Given the description of an element on the screen output the (x, y) to click on. 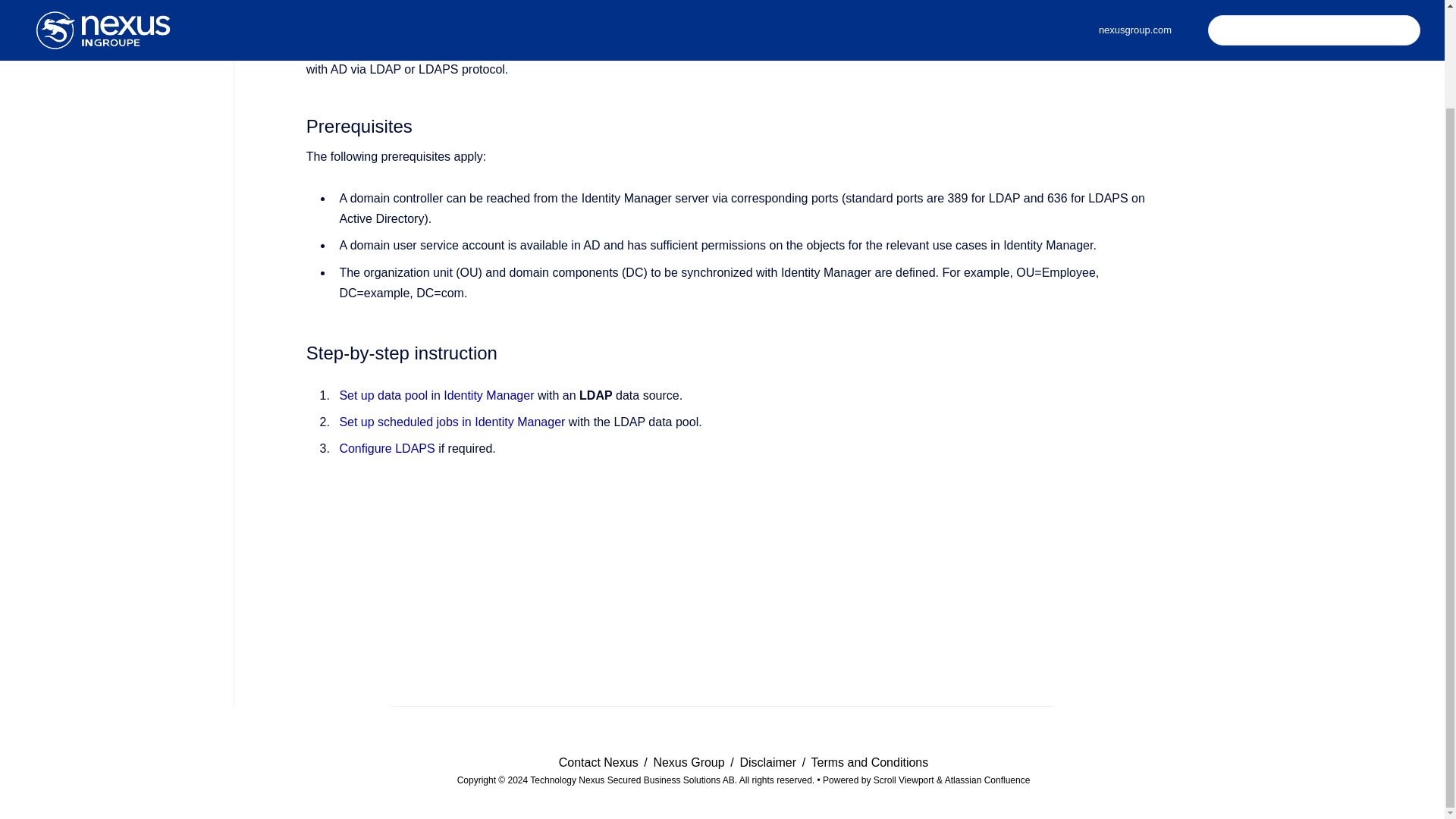
Configure LDAPS (386, 448)
Contact Nexus (600, 762)
Smart ID Identity Manager (838, 48)
Scroll Viewport (904, 779)
Set up data pool in Identity Manager (436, 395)
Disclaimer (769, 762)
Nexus Group (690, 762)
Atlassian Confluence (987, 779)
Set up scheduled jobs in Identity Manager (451, 421)
Terms and Conditions (869, 762)
